Given the description of an element on the screen output the (x, y) to click on. 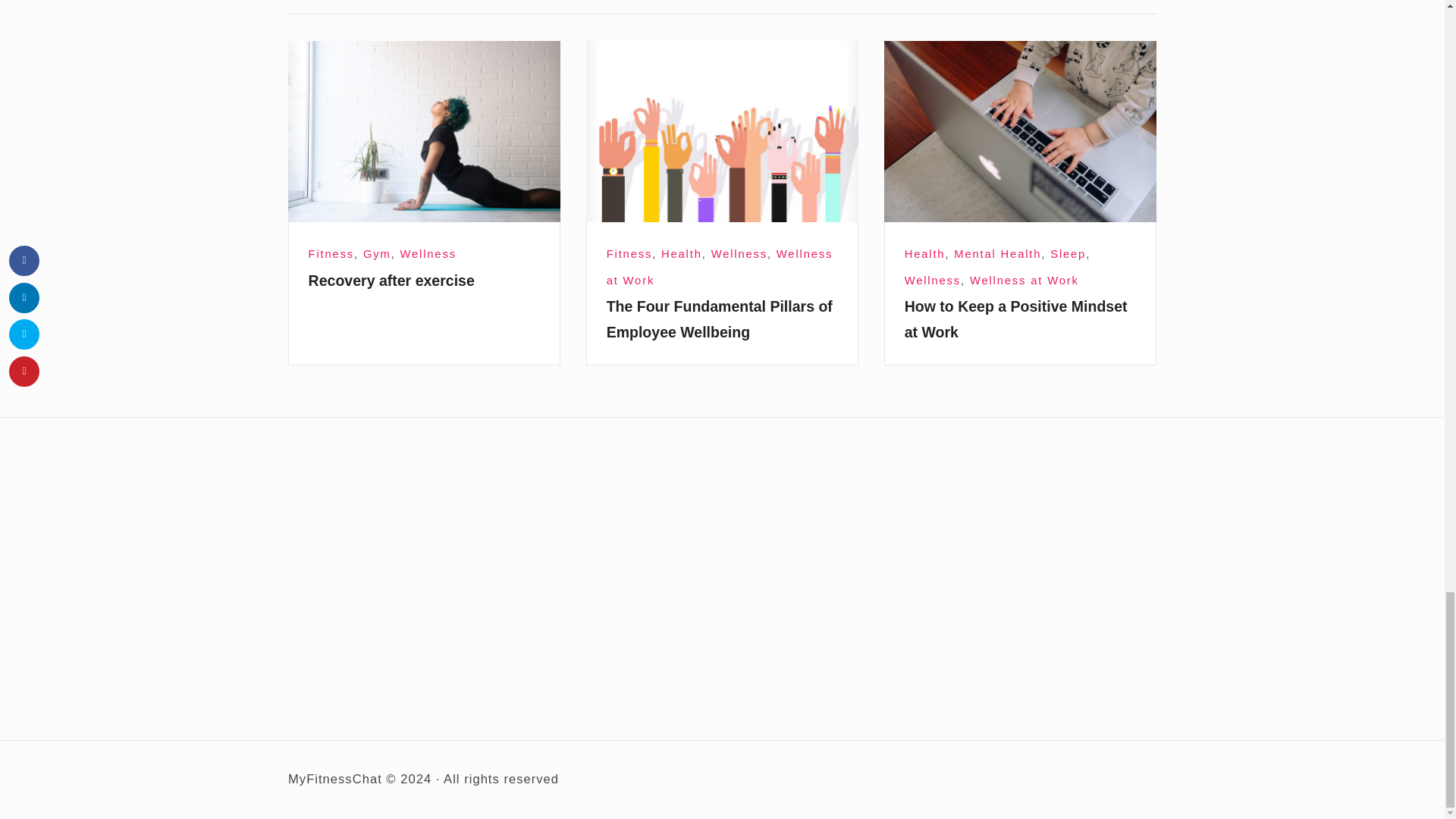
Fitness (330, 254)
Wellness at Work (719, 266)
Health (681, 254)
Wellness (428, 254)
Fitness (629, 254)
The Four Fundamental Pillars of Employee Wellbeing (722, 130)
Recovery after exercise (391, 280)
Wellness (739, 254)
Gym (376, 254)
Recovery after exercise (424, 130)
